Given the description of an element on the screen output the (x, y) to click on. 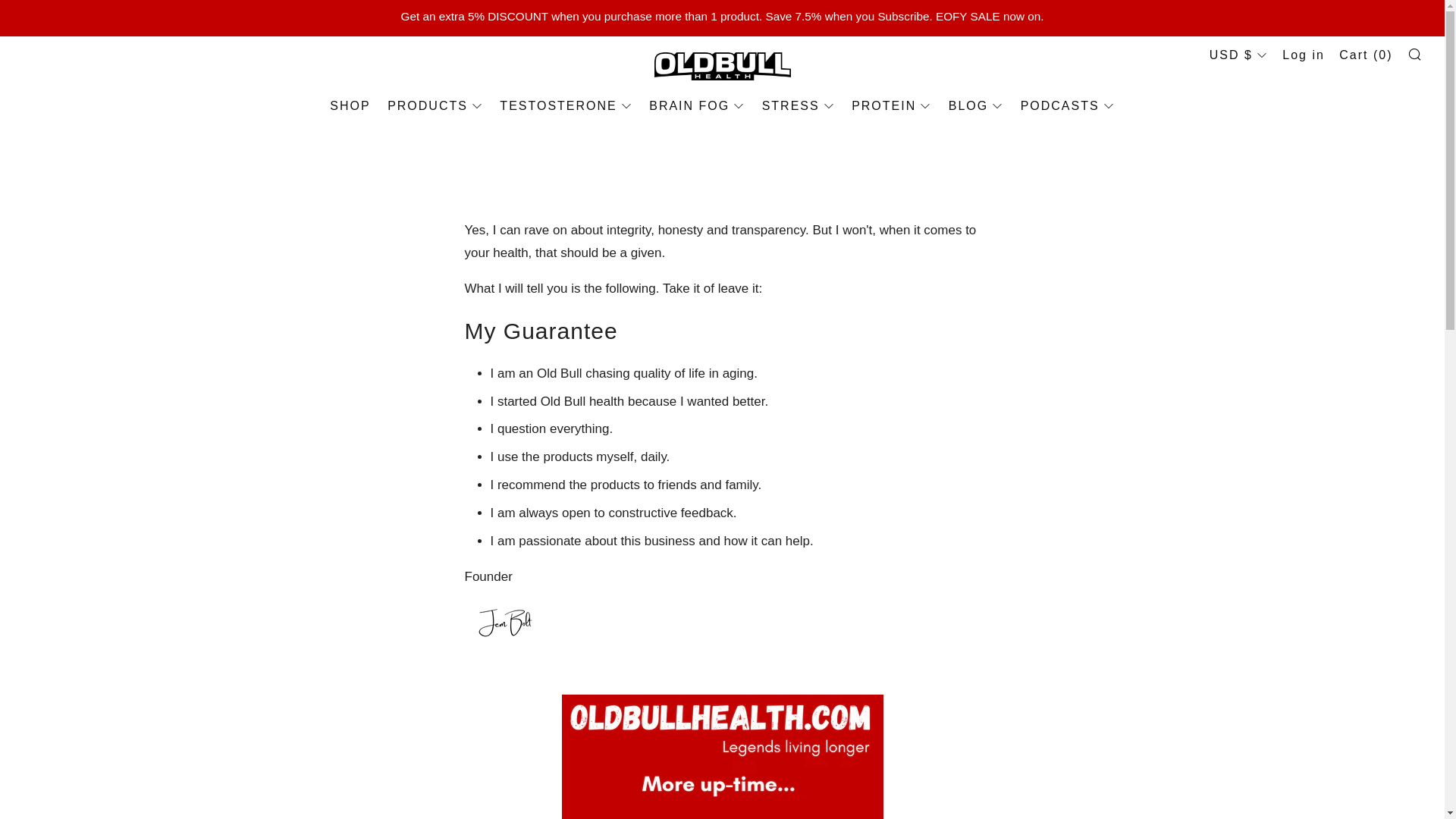
Jem Bolt LinkedIn (505, 620)
